Given the description of an element on the screen output the (x, y) to click on. 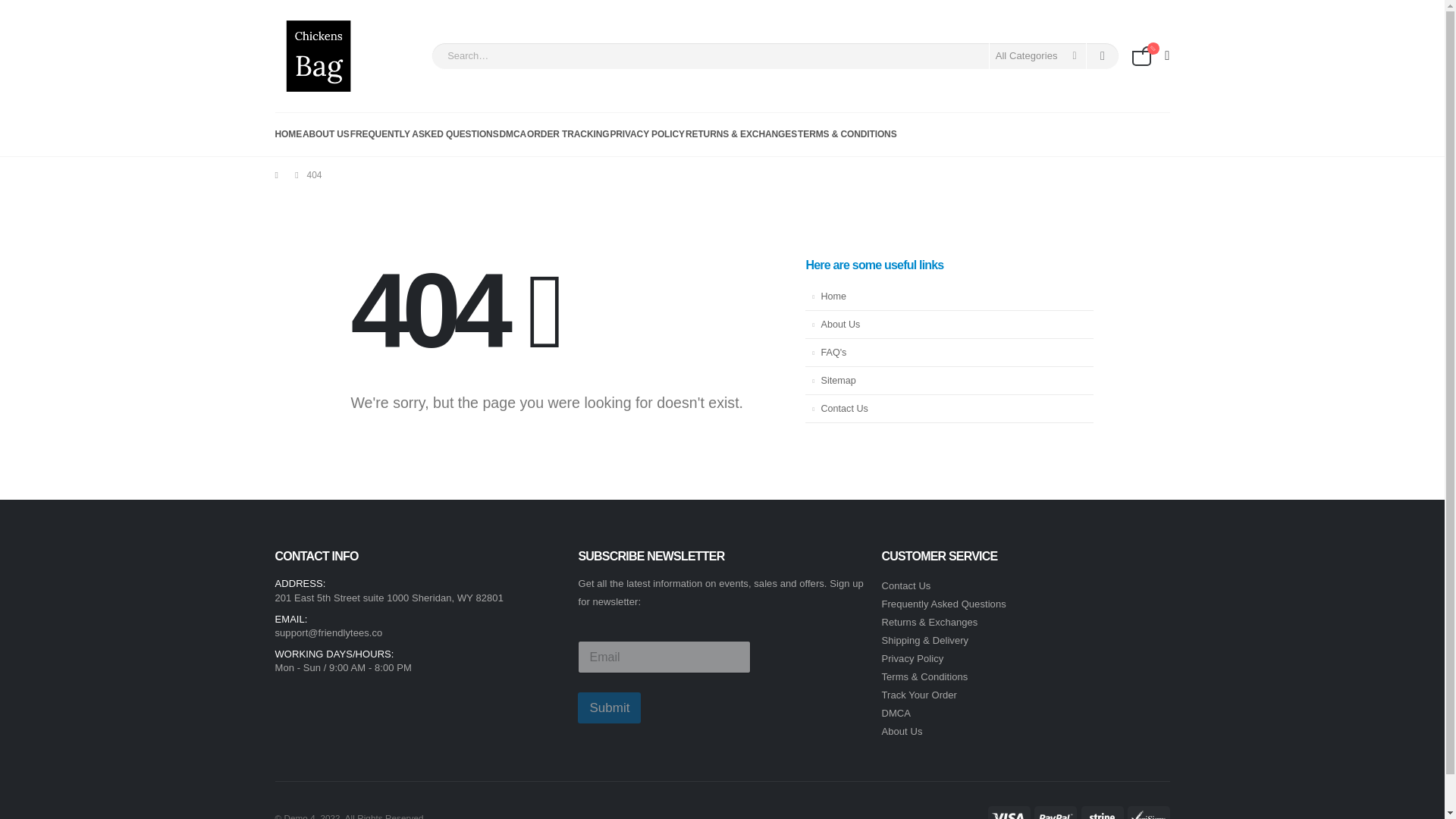
Privacy Policy (911, 658)
Sitemap (949, 380)
Contact Us (905, 585)
ORDER TRACKING (567, 134)
Search (1102, 55)
FAQ's (949, 352)
ABOUT US (325, 134)
About Us (949, 325)
Track Your Order (918, 695)
About Us (900, 731)
